Given the description of an element on the screen output the (x, y) to click on. 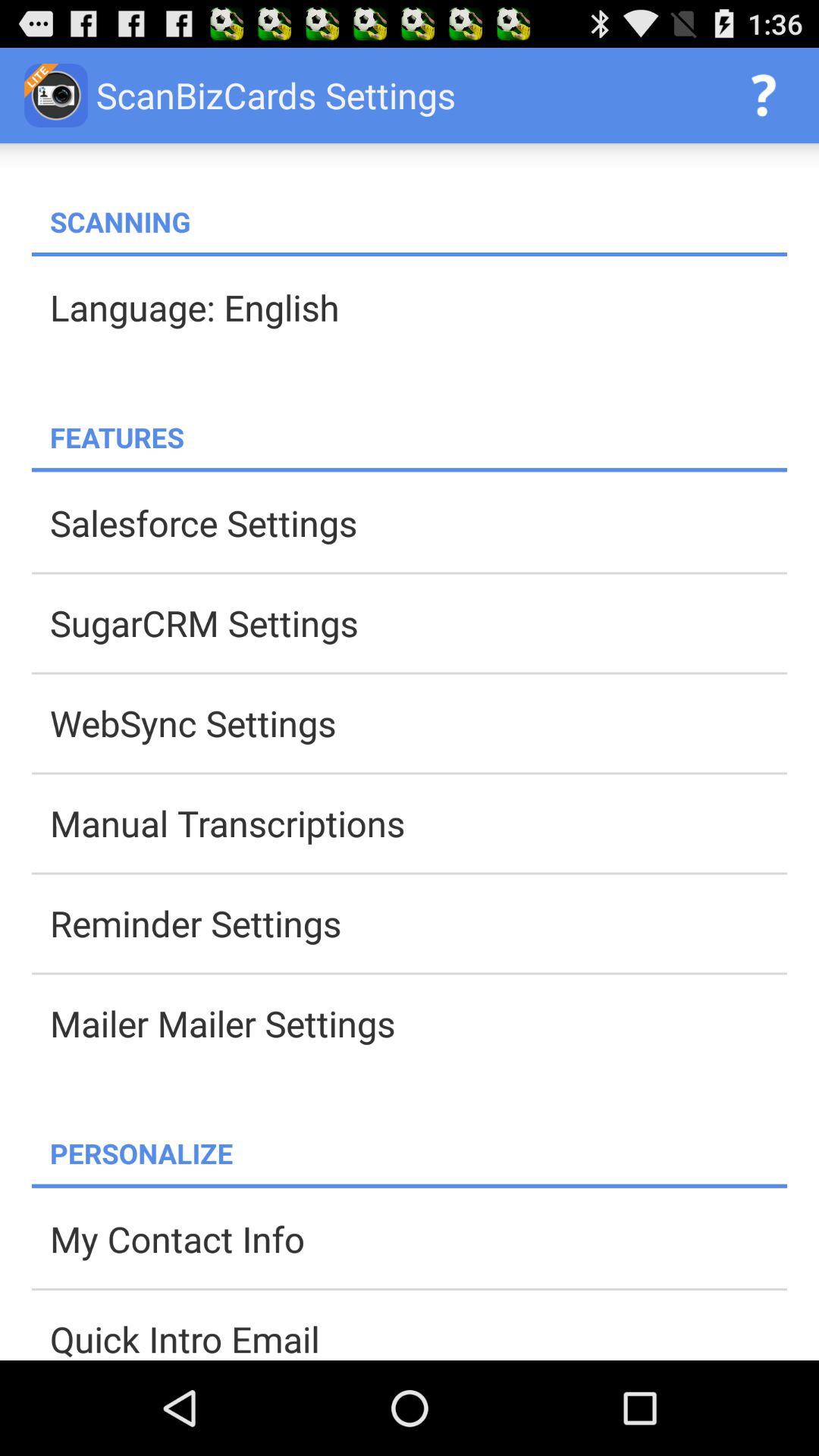
tap the app below my contact info app (418, 1337)
